Given the description of an element on the screen output the (x, y) to click on. 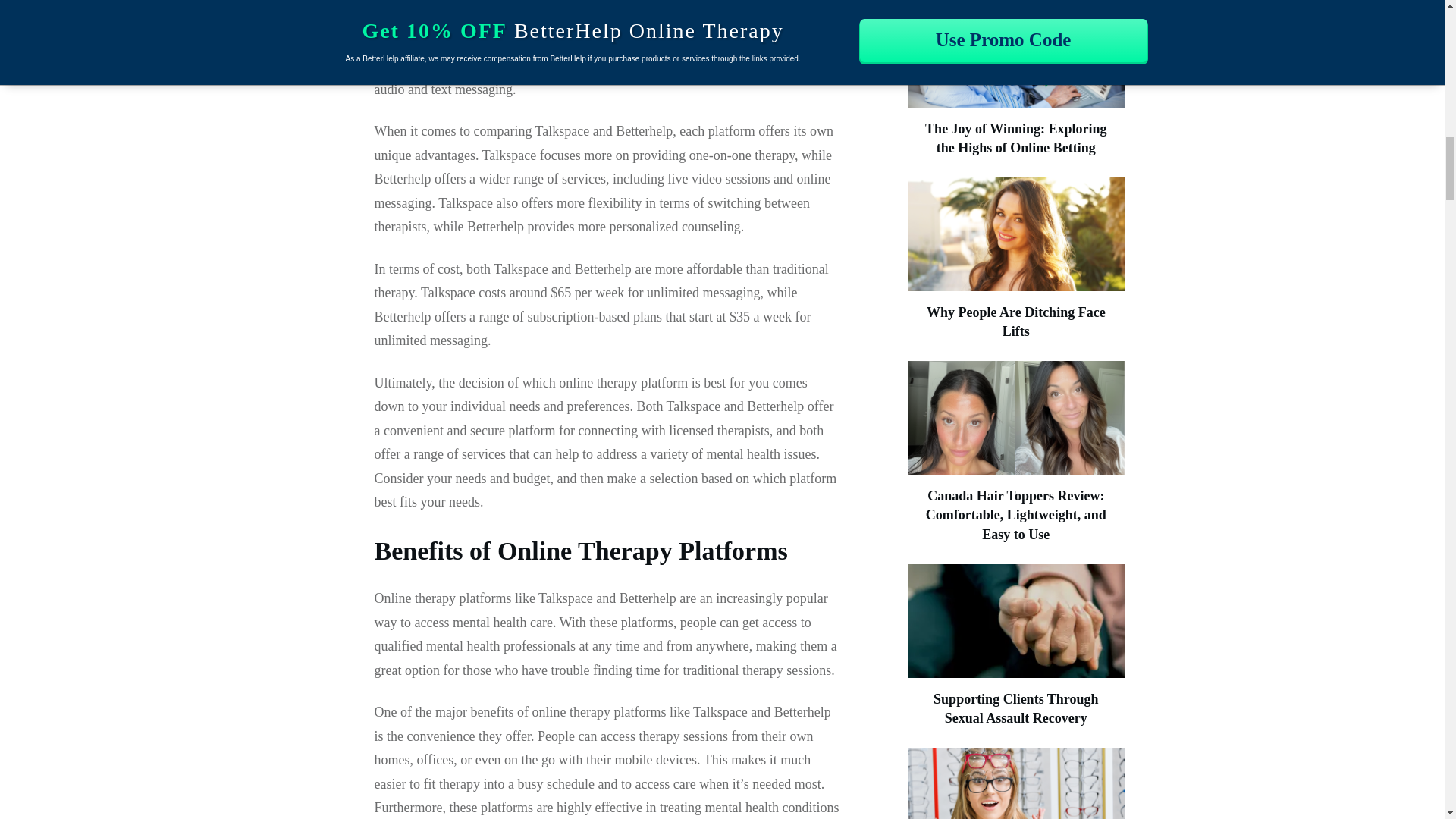
personalized counseling services (520, 17)
